Given the description of an element on the screen output the (x, y) to click on. 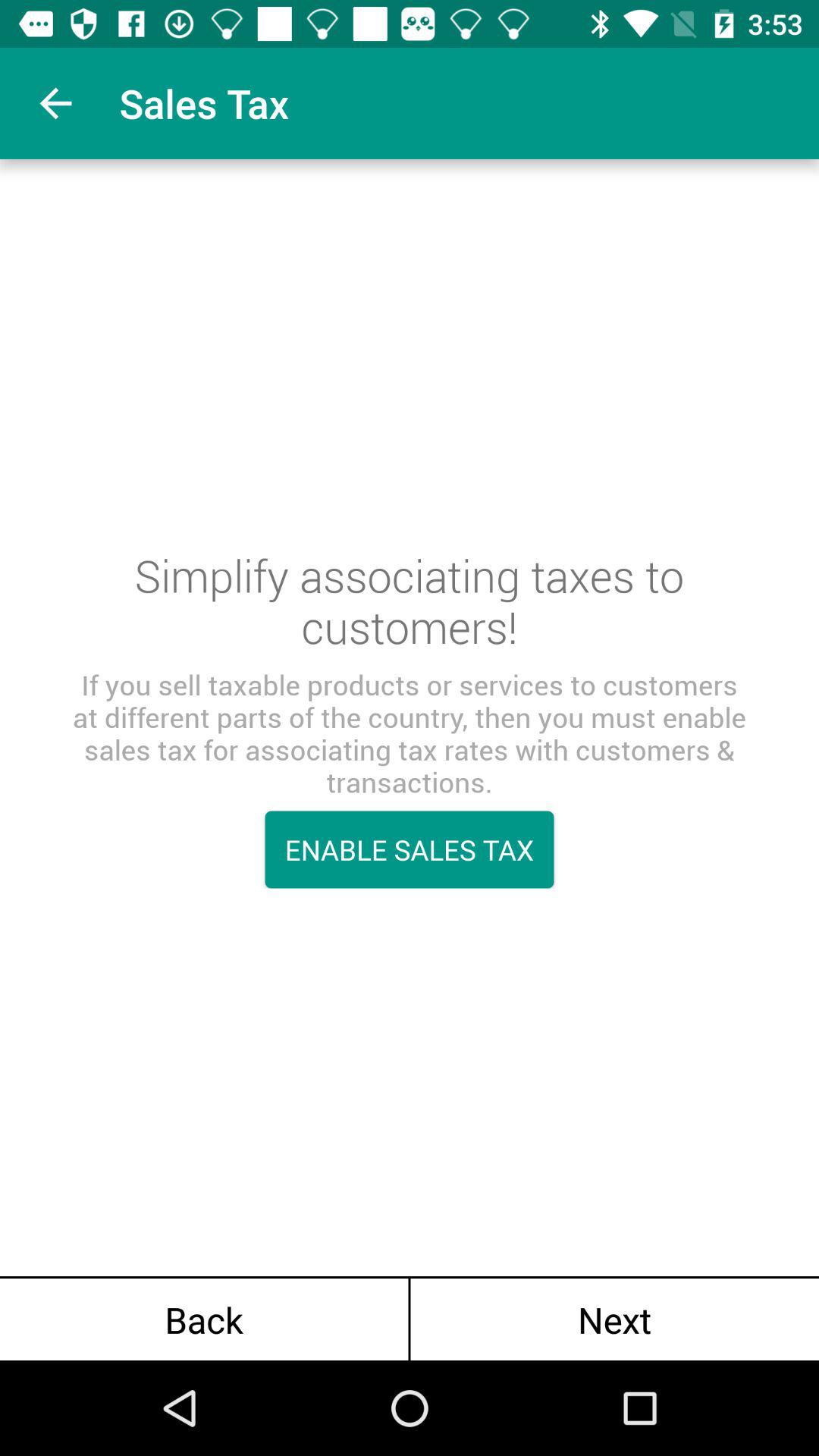
turn off app next to the sales tax (55, 103)
